Given the description of an element on the screen output the (x, y) to click on. 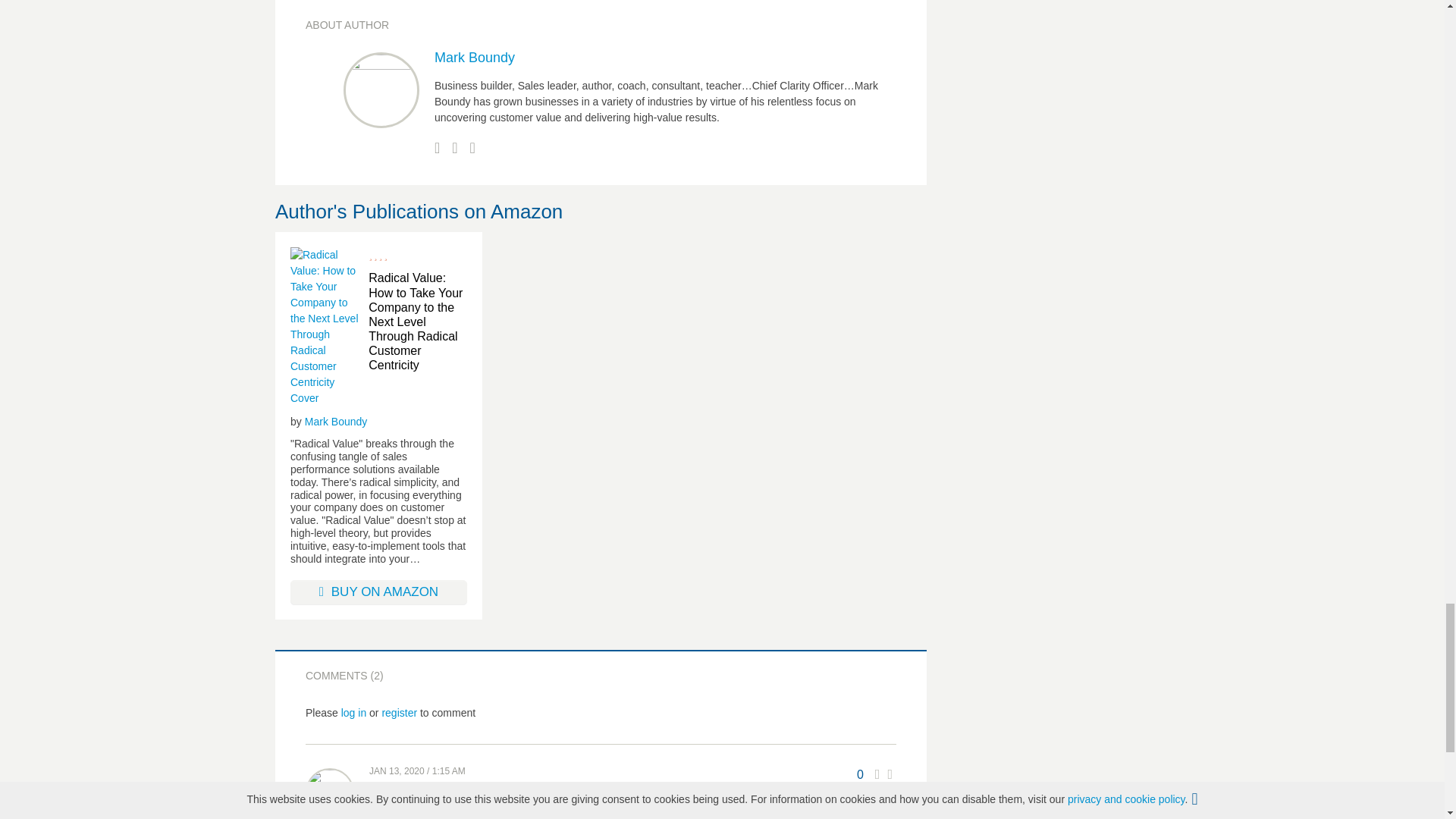
Mark Boundy (474, 57)
log in (353, 712)
Mark Boundy (335, 421)
BUY ON AMAZON (378, 591)
